Given the description of an element on the screen output the (x, y) to click on. 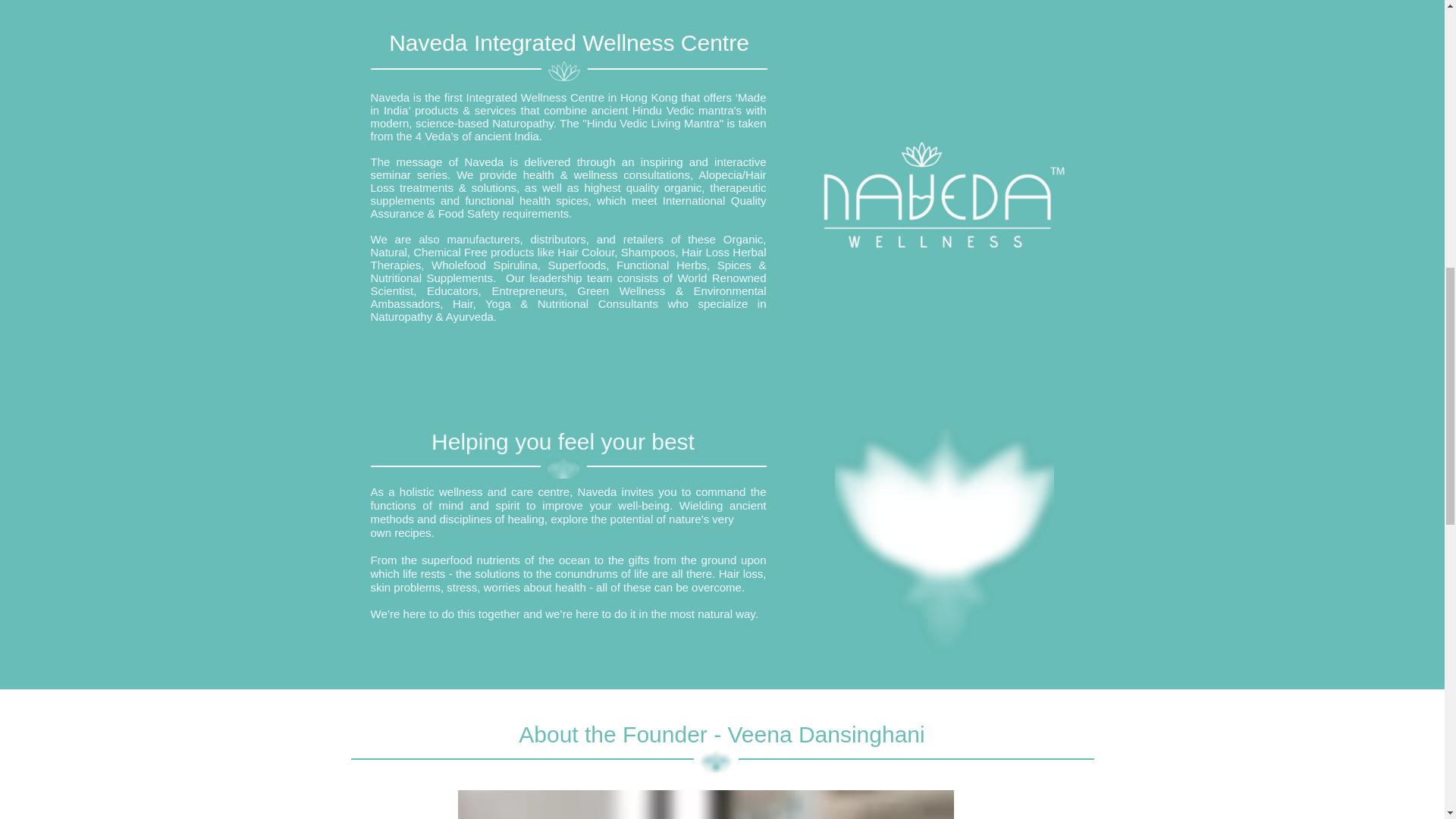
Naveda Flower White logo.png (563, 71)
Naveda Flower White logo.png (563, 468)
Naveda White Logo.png (944, 195)
